Given the description of an element on the screen output the (x, y) to click on. 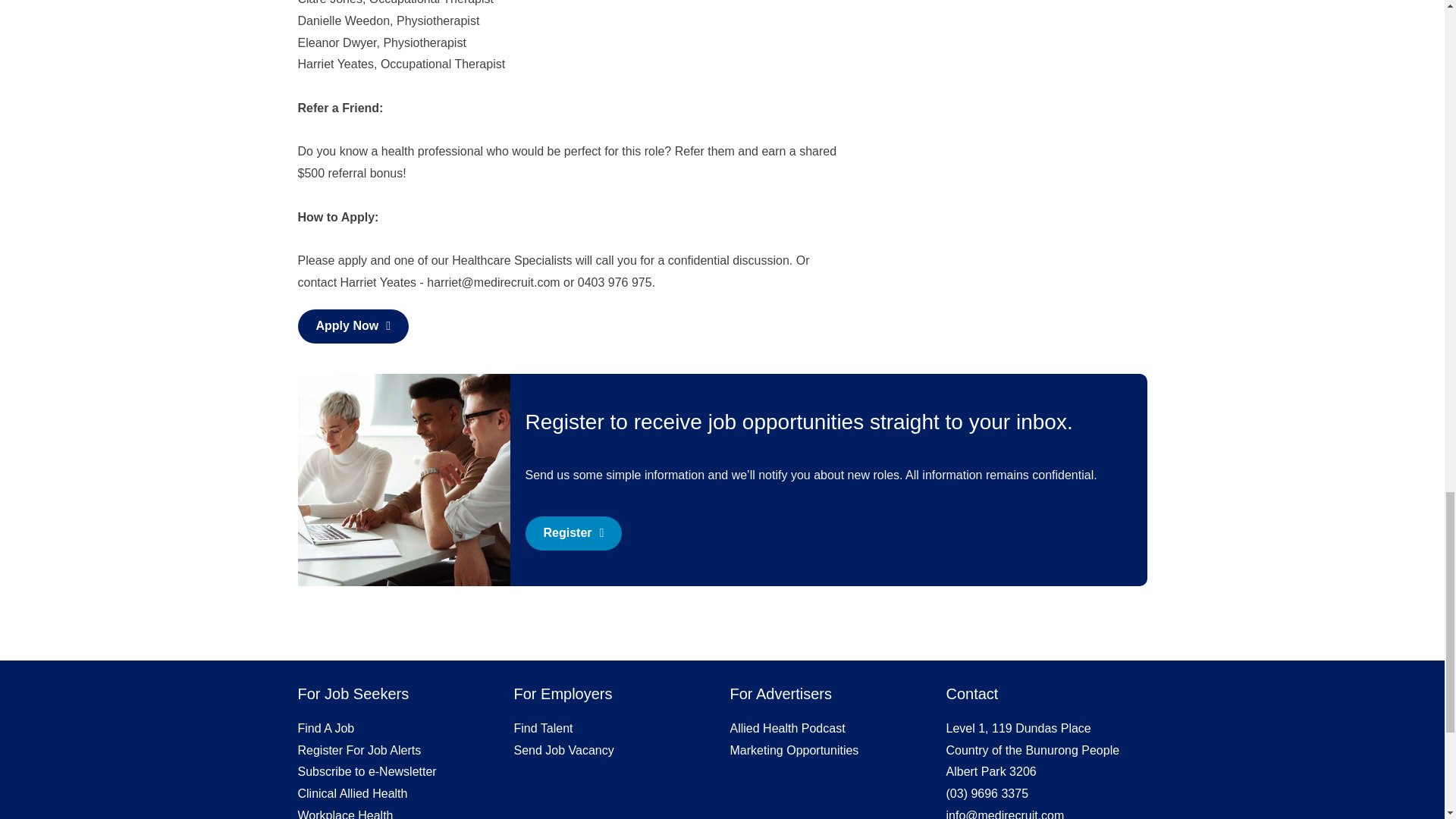
Marketing Opportunities (794, 749)
Find A Job (325, 727)
Workplace Health (345, 814)
Send Job Vacancy (563, 749)
Register For Job Alerts (358, 749)
Find Talent (543, 727)
Register (572, 533)
Apply Now (353, 326)
Subscribe to e-Newsletter (366, 771)
Clinical Allied Health (352, 793)
Allied Health Podcast (786, 727)
